Given the description of an element on the screen output the (x, y) to click on. 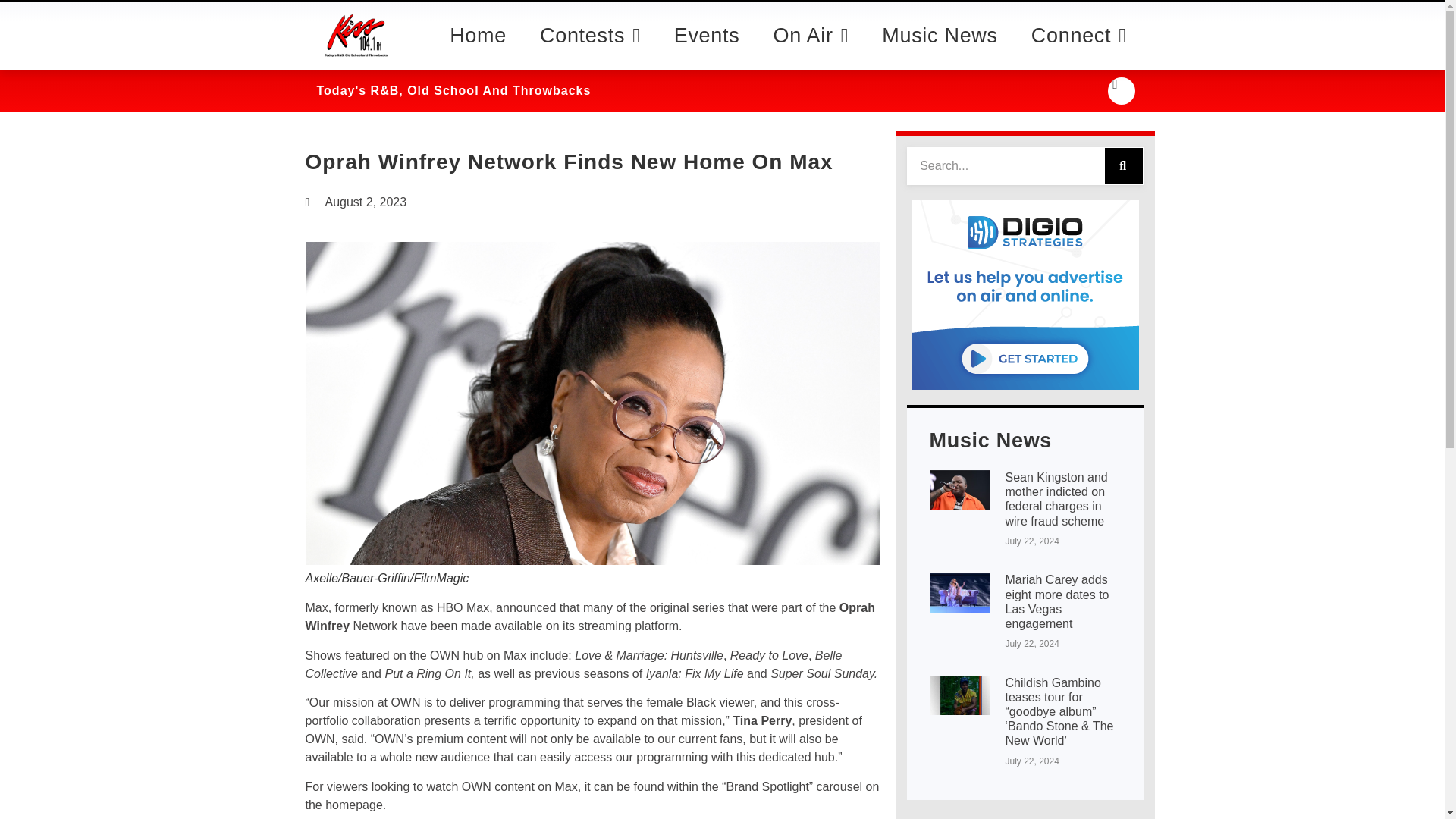
Events (706, 57)
Contests (590, 70)
On Air (810, 56)
Music News (939, 46)
Connect (1078, 45)
Home (477, 72)
